Given the description of an element on the screen output the (x, y) to click on. 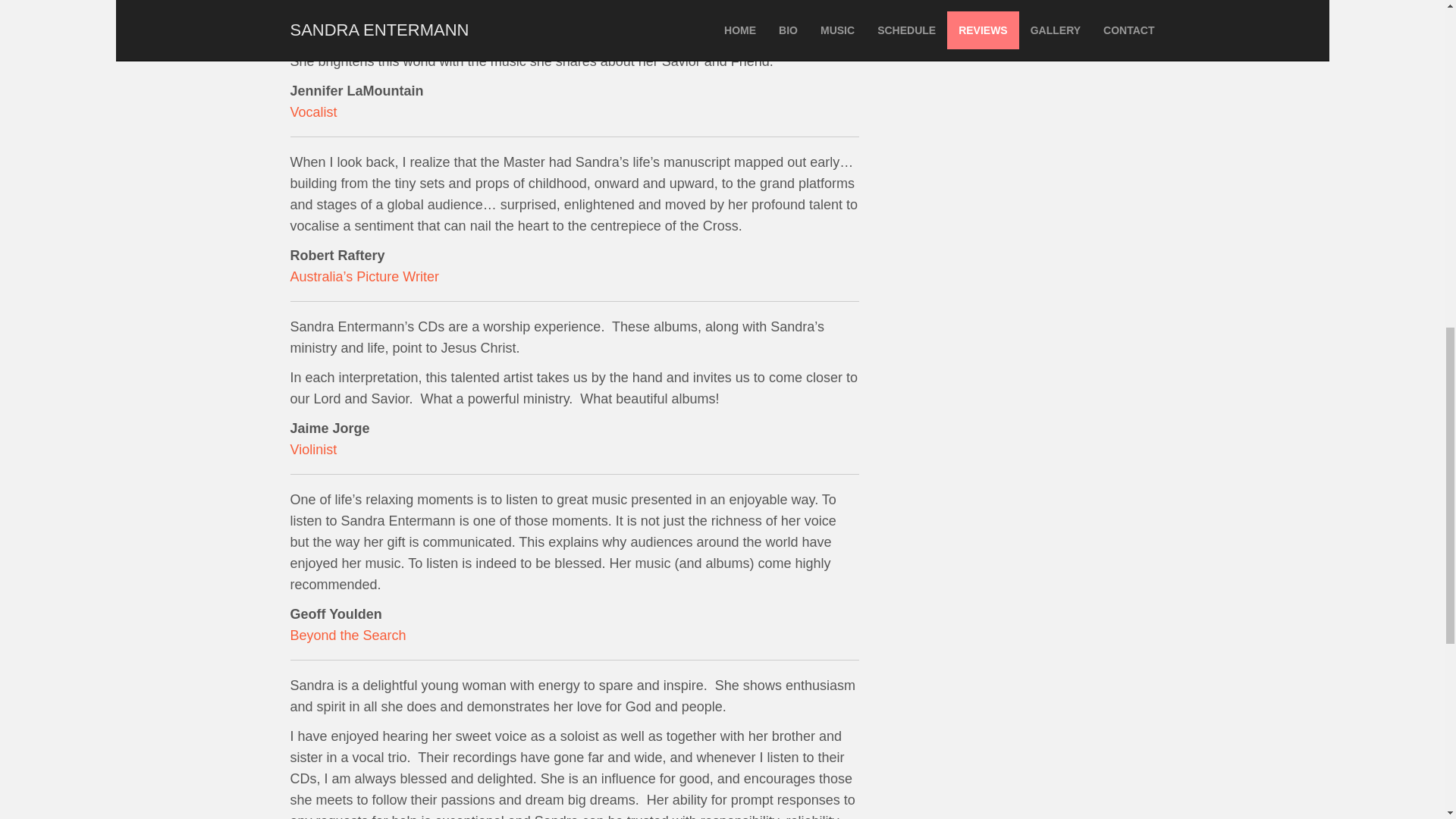
Beyond the Search (347, 635)
Violinist (312, 449)
Vocalist (312, 111)
